Given the description of an element on the screen output the (x, y) to click on. 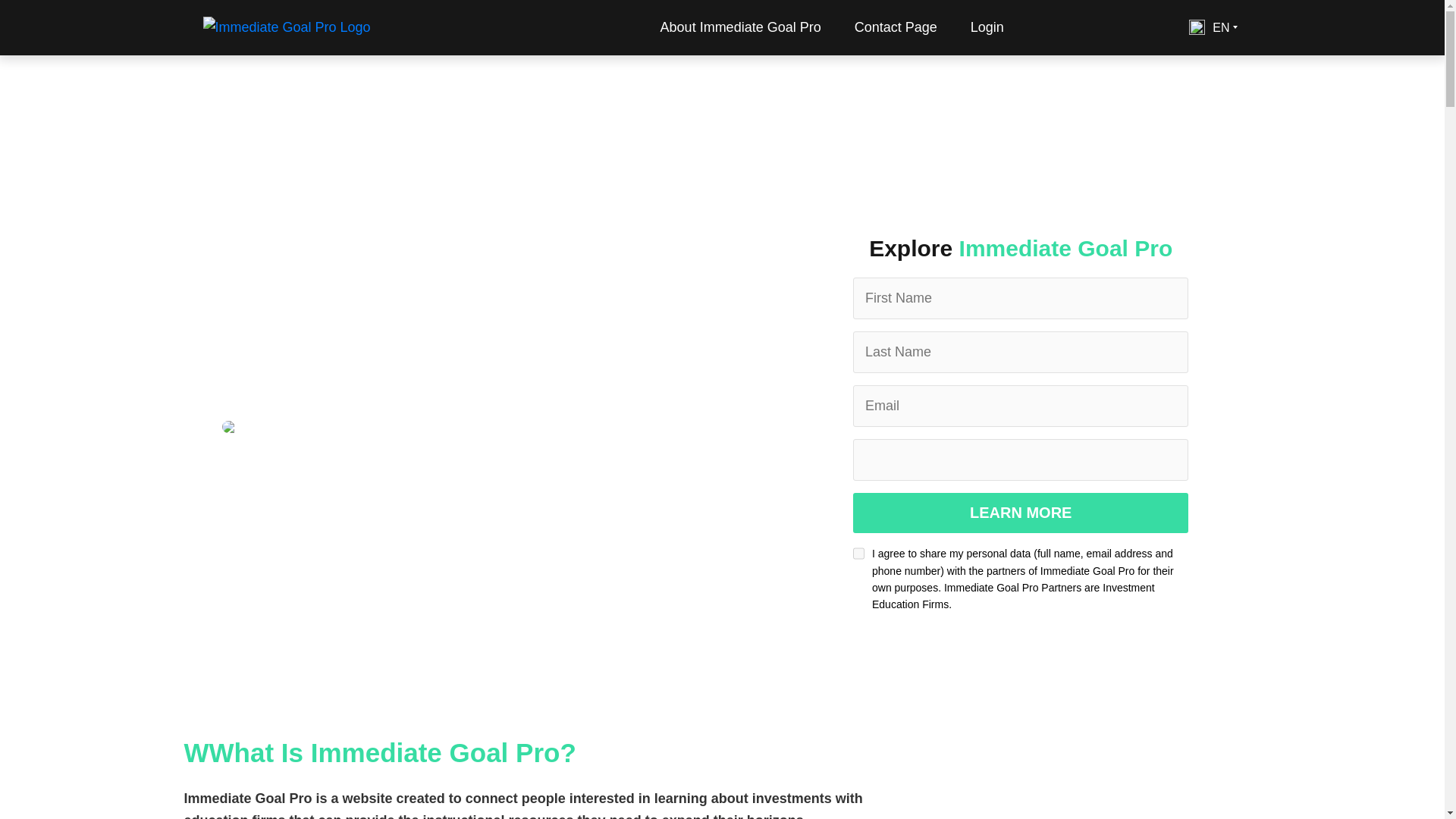
LEARN MORE (1021, 513)
on (858, 553)
Contact Page (895, 27)
About Immediate Goal Pro (740, 27)
Login (987, 27)
